Given the description of an element on the screen output the (x, y) to click on. 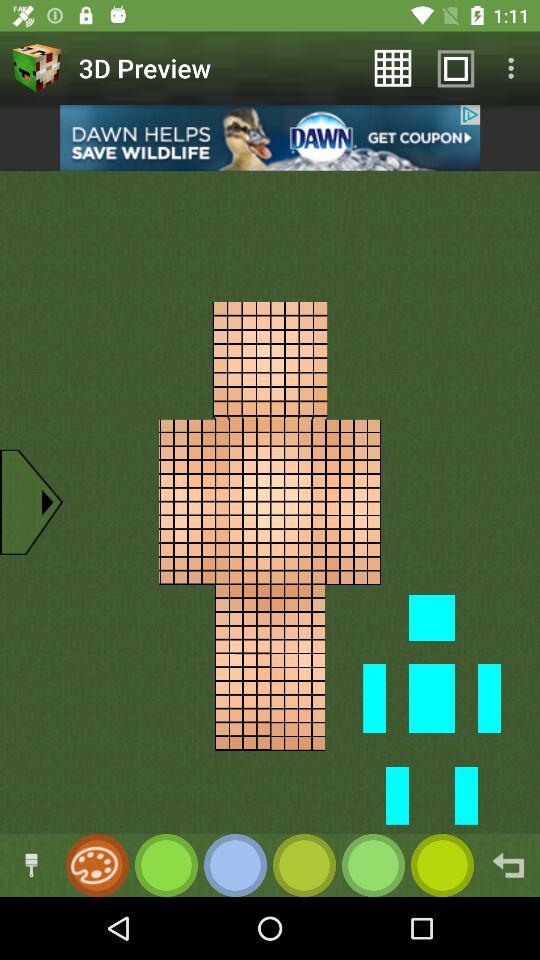
brush tool selector (31, 865)
